Given the description of an element on the screen output the (x, y) to click on. 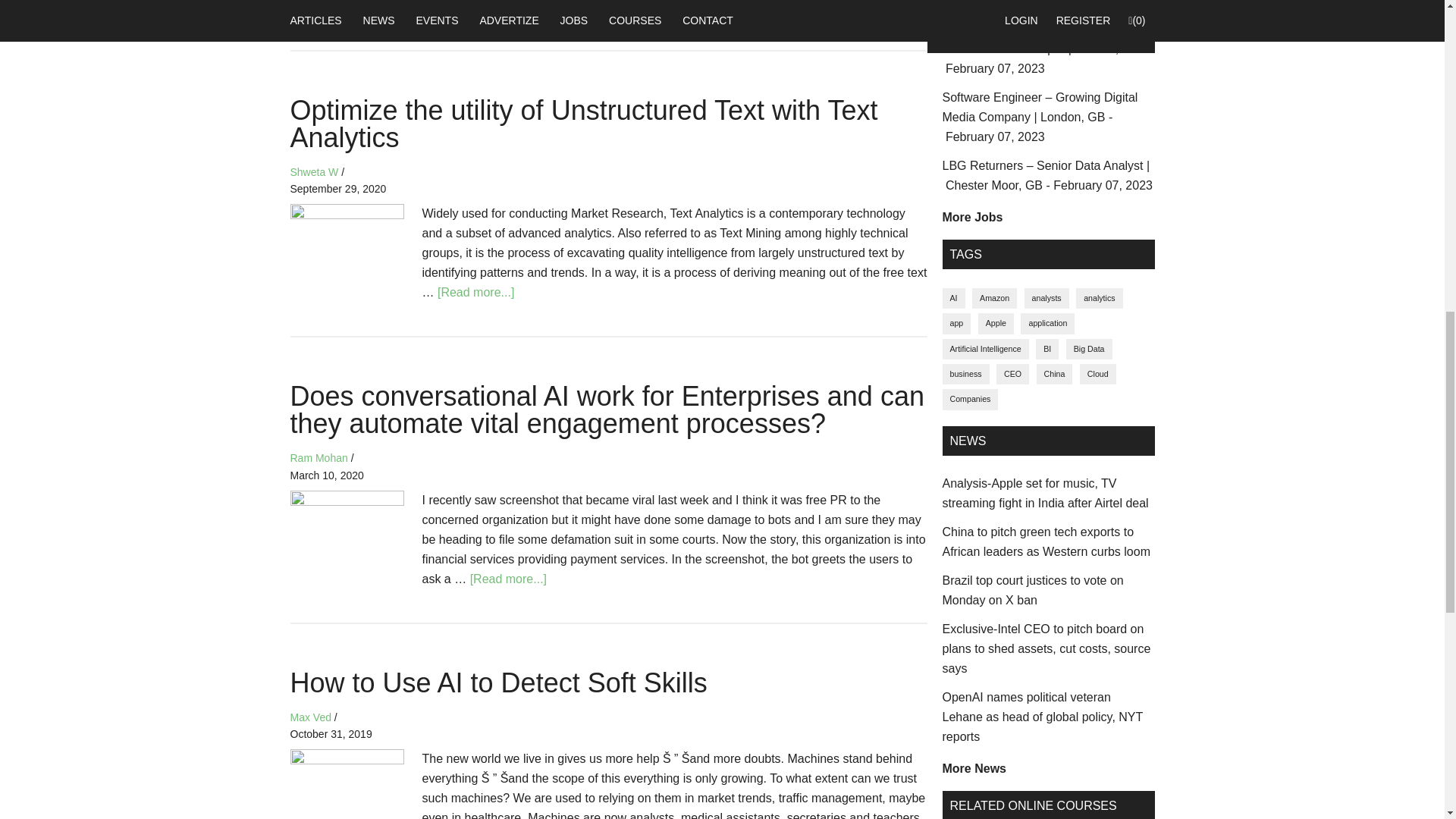
Brazil top court justices to vote on Monday on X ban (1032, 590)
Senior Java Developer (1044, 58)
